Given the description of an element on the screen output the (x, y) to click on. 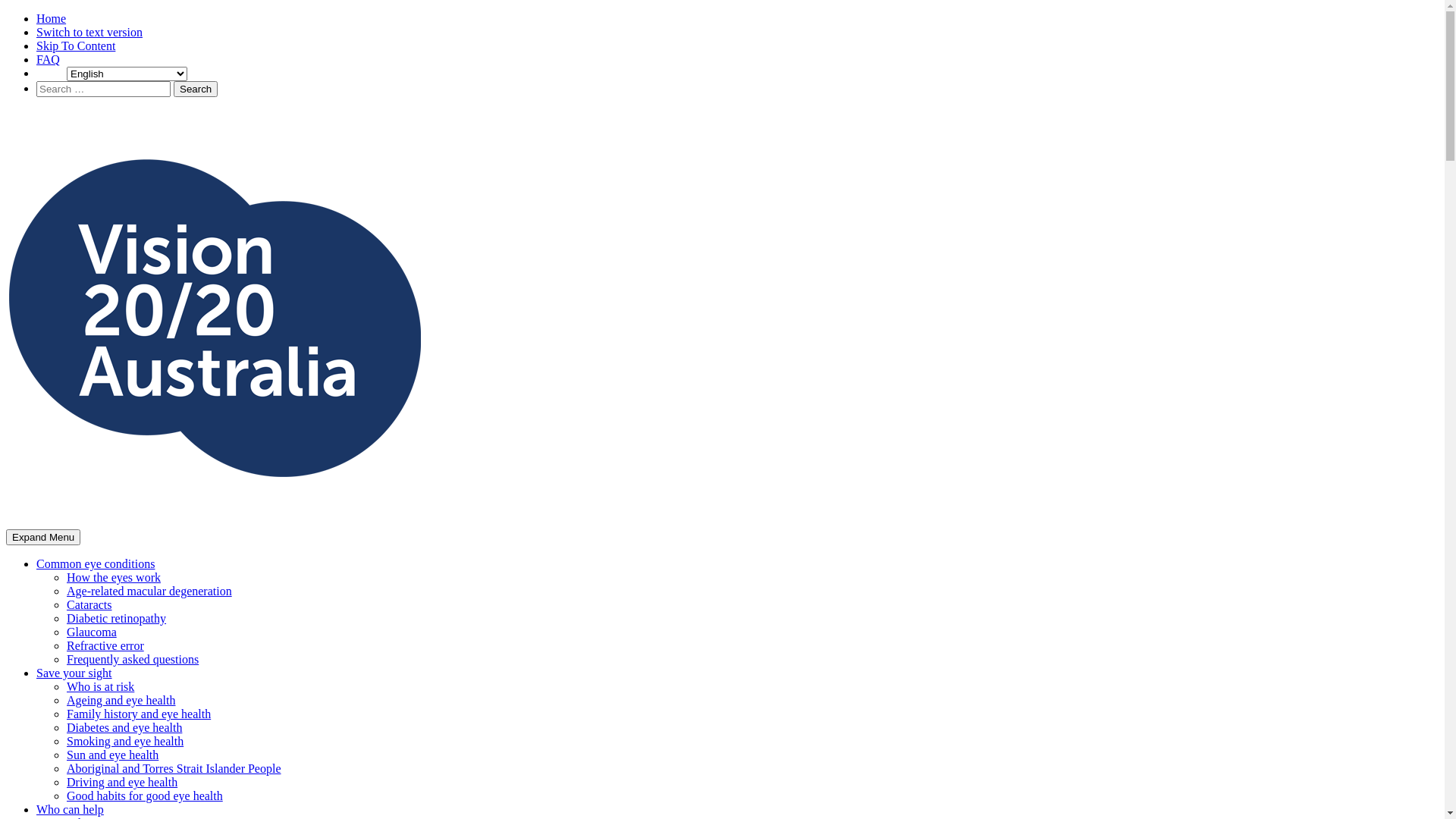
Diabetes and eye health Element type: text (124, 727)
Cataracts Element type: text (89, 604)
Ageing and eye health Element type: text (120, 699)
Frequently asked questions Element type: text (132, 658)
Home Element type: text (50, 18)
Expand Menu Element type: text (43, 537)
Search Element type: text (195, 89)
Glaucoma Element type: text (91, 631)
Driving and eye health Element type: text (121, 781)
FAQ Element type: text (47, 59)
Smoking and eye health Element type: text (124, 740)
Who is at risk Element type: text (100, 686)
Skip To Content Element type: text (75, 45)
Age-related macular degeneration Element type: text (149, 590)
Common eye conditions Element type: text (95, 563)
Diabetic retinopathy Element type: text (116, 617)
Family history and eye health Element type: text (138, 713)
Good habits for good eye health Element type: text (144, 795)
Aboriginal and Torres Strait Islander People Element type: text (173, 768)
Sun and eye health Element type: text (112, 754)
Refractive error Element type: text (105, 645)
Vision Initiative Element type: text (45, 547)
Skip to content Element type: text (5, 108)
Save your sight Element type: text (74, 672)
Switch to text version Element type: text (89, 31)
How the eyes work Element type: text (113, 577)
Who can help Element type: text (69, 809)
